Given the description of an element on the screen output the (x, y) to click on. 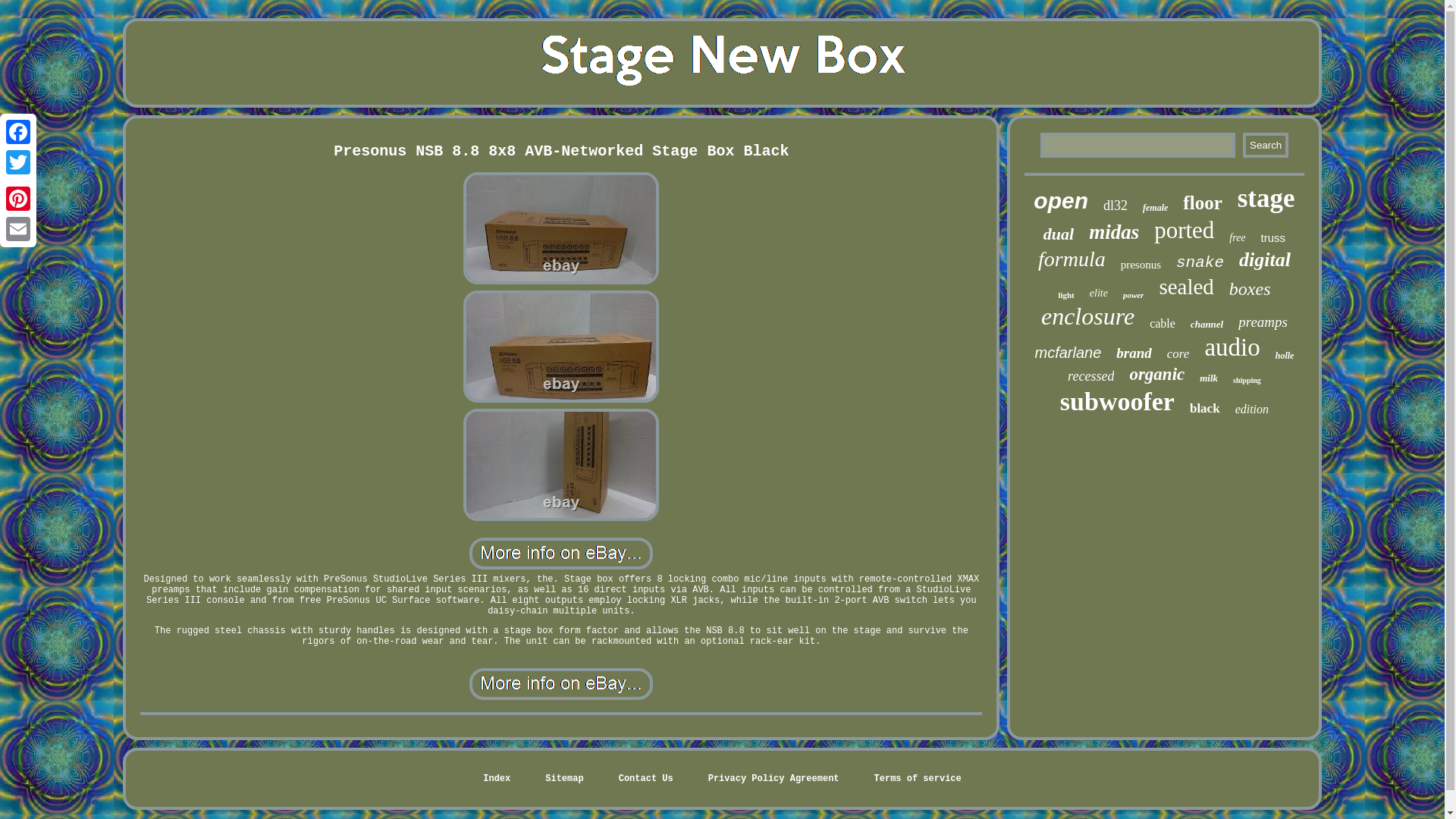
boxes (1249, 289)
Presonus NSB 8.8 8x8 AVB-Networked Stage Box Black (561, 346)
Presonus NSB 8.8 8x8 AVB-Networked Stage Box Black (560, 684)
dual (1058, 234)
free (1236, 237)
Facebook (17, 132)
formula (1071, 259)
enclosure (1087, 316)
presonus (1140, 264)
elite (1098, 293)
midas (1113, 232)
Pinterest (17, 198)
Twitter (17, 162)
Presonus NSB 8.8 8x8 AVB-Networked Stage Box Black (560, 553)
truss (1272, 237)
